Given the description of an element on the screen output the (x, y) to click on. 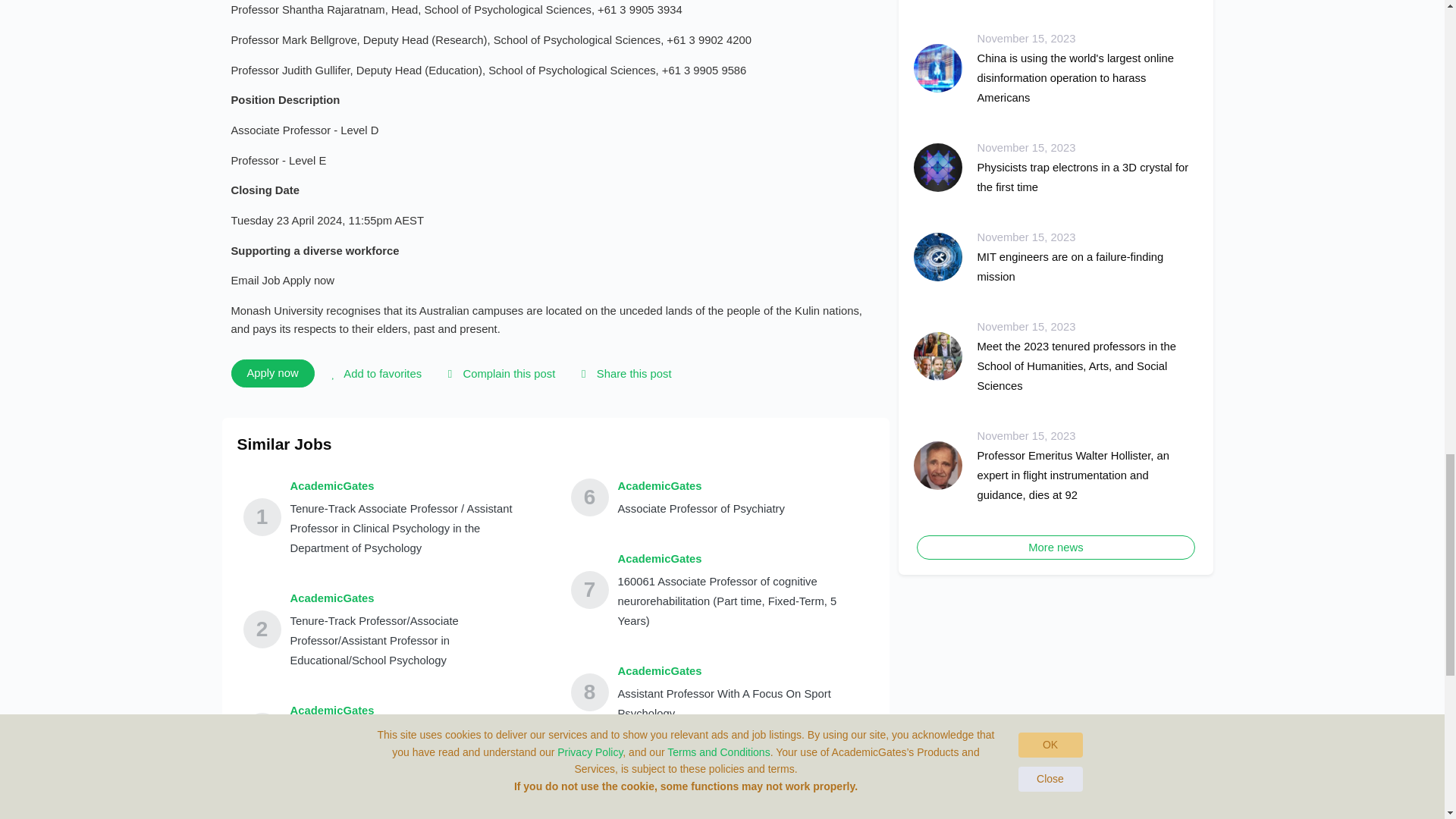
AcademicGates (742, 558)
AcademicGates (414, 598)
Associate Professor of Psychiatry (700, 508)
Complain this post (498, 373)
AcademicGates (700, 485)
AcademicGates (413, 803)
Share this post (623, 373)
Assistant Professor With A Focus On Sport Psychology (742, 795)
AcademicGates (742, 763)
Add to favorites (374, 373)
Apply now (272, 372)
Assistant Professor With A Focus On Sport Psychology (742, 703)
AcademicGates (414, 710)
AcademicGates (742, 670)
